Given the description of an element on the screen output the (x, y) to click on. 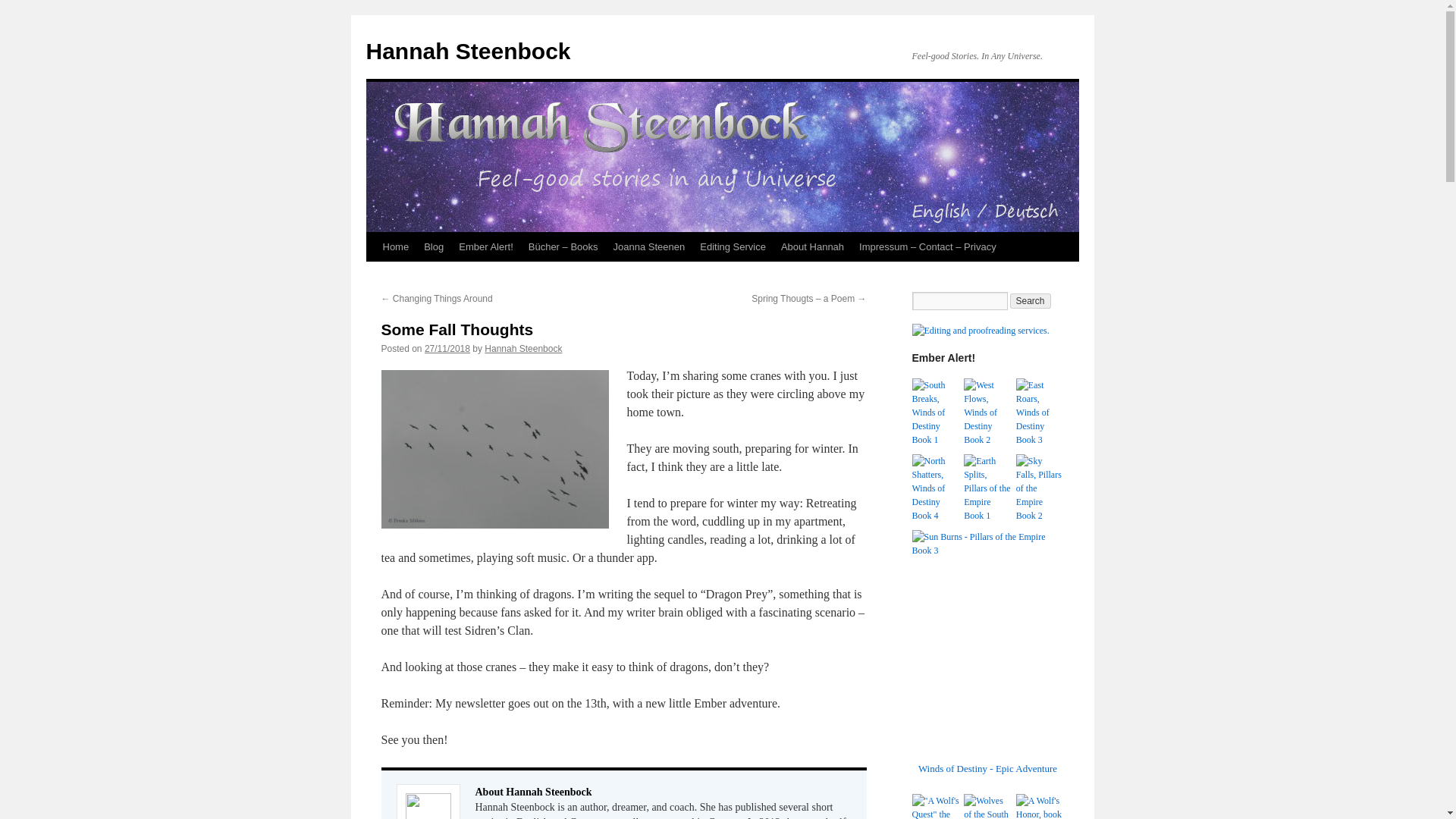
Search (1030, 300)
11:46 (447, 348)
Home (395, 246)
Editing Service (733, 246)
Blog (433, 246)
View all posts by Hannah Steenbock (523, 348)
About Hannah (812, 246)
Ember Alert! (486, 246)
Joanna Steenen (649, 246)
Hannah Steenbock (523, 348)
